Given the description of an element on the screen output the (x, y) to click on. 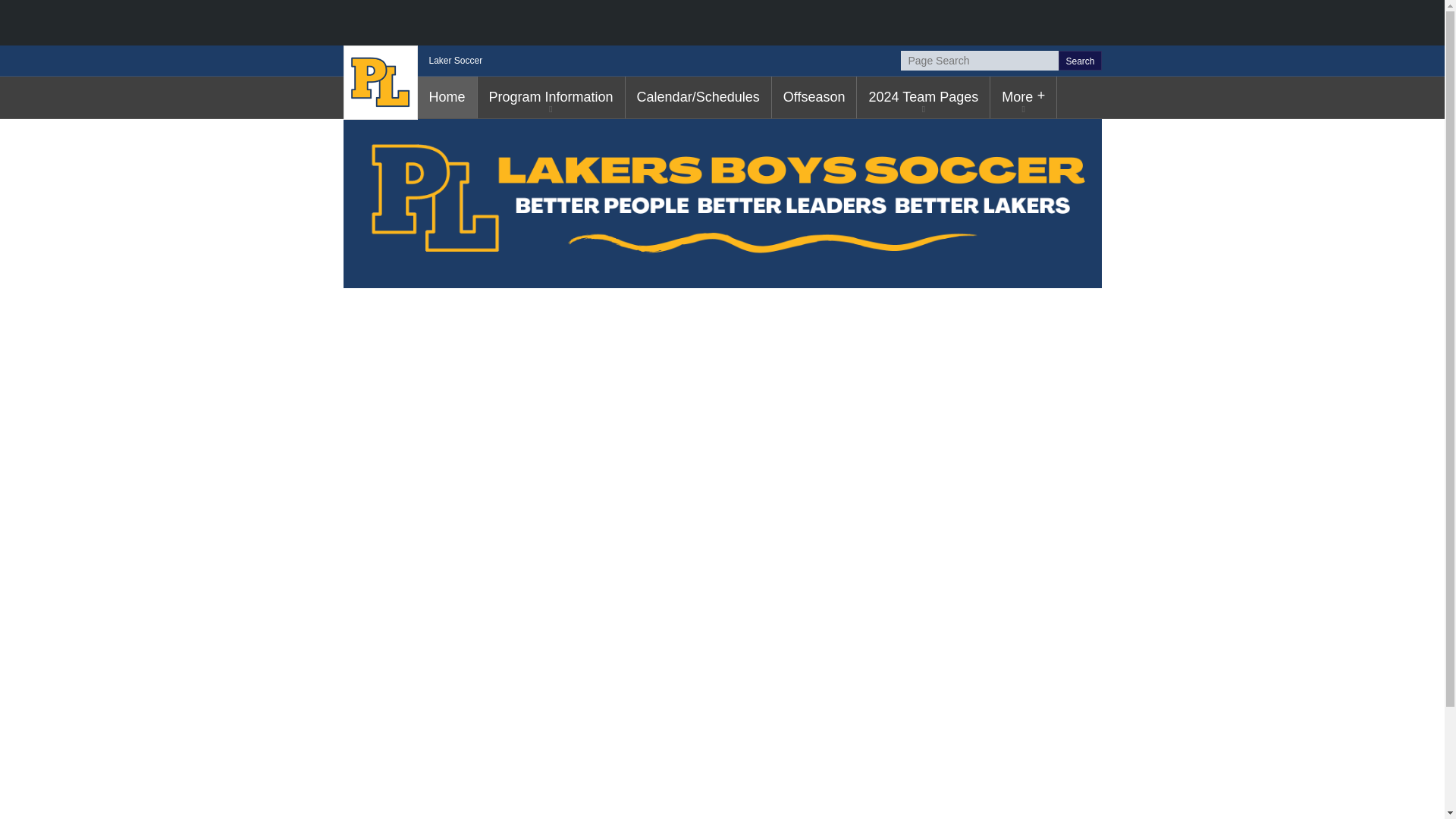
click to go to '2024 Team Pages' (923, 96)
2024 Team Pages (923, 96)
More (1023, 96)
click to go to 'Boys Soccer Program Information' (550, 96)
Offseason (814, 96)
click to go to 'Offseason Information' (814, 96)
click to go to 'Home' (446, 96)
Program Information (550, 96)
Home (446, 96)
